Given the description of an element on the screen output the (x, y) to click on. 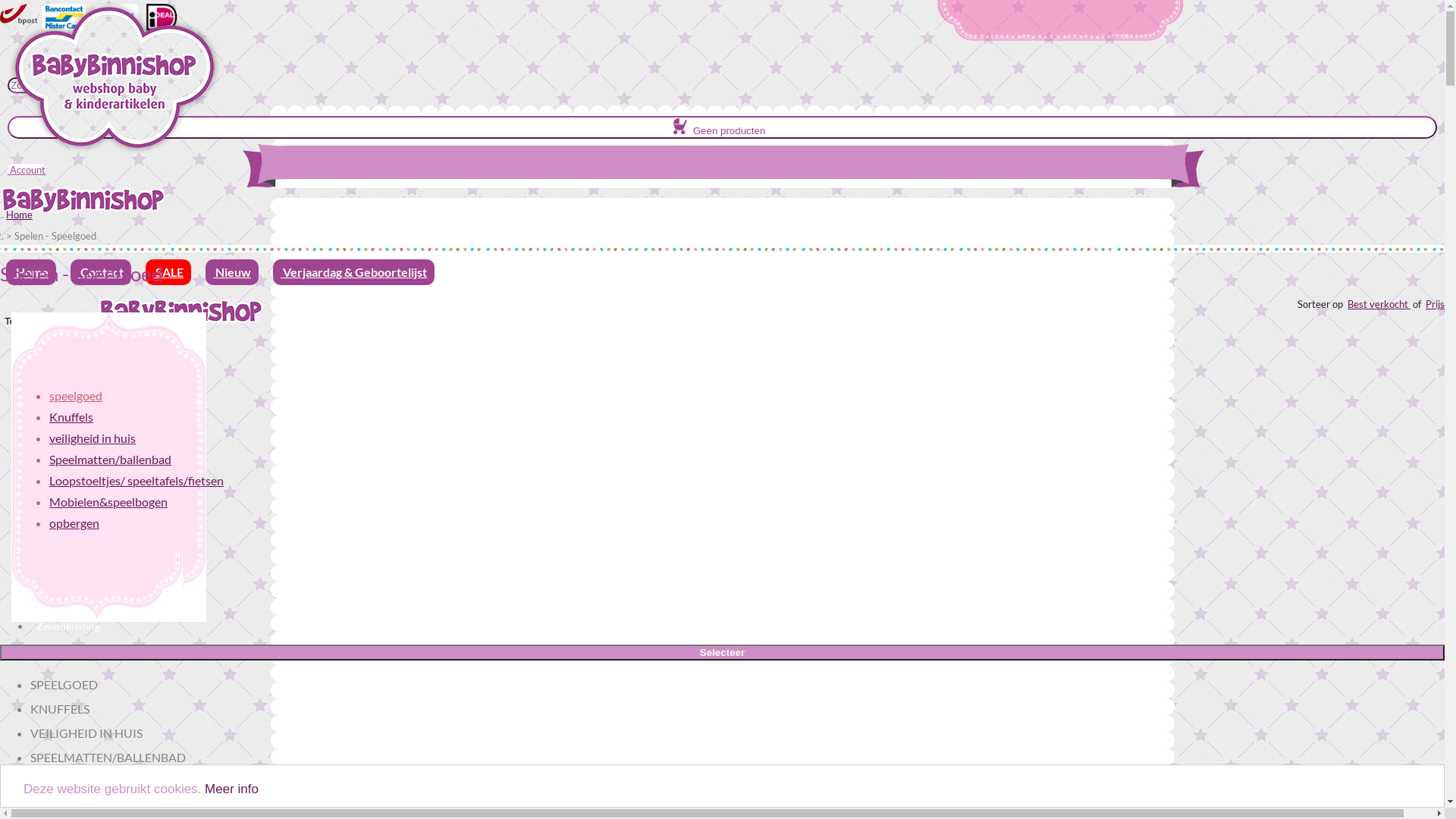
Selecteer Element type: text (722, 652)
Meer info Element type: text (231, 788)
Onderweg Element type: text (60, 541)
VEILIGHEID IN HUIS Element type: text (86, 732)
Voeding Element type: text (55, 456)
Geboortelijsten Element type: text (73, 392)
SPEELGOED Element type: text (63, 684)
 Account Element type: text (26, 169)
Zomer & water Element type: text (71, 583)
Knuffels Element type: text (71, 416)
 Verjaardag & Geboortelijst Element type: text (353, 272)
 Nieuw Element type: text (231, 272)
Verzorging Element type: text (62, 477)
LOOPSTOELTJES/ SPEELTAFELS/FIETSEN Element type: text (140, 781)
Zwemkleding Volwassenen Element type: text (99, 605)
Speelmatten/ballenbad Element type: text (110, 458)
Gepersonaliseerd Element type: text (77, 562)
SPEELMATTEN/BALLENBAD Element type: text (107, 756)
Prijs Element type: text (1434, 304)
Mobielen&speelbogen Element type: text (108, 501)
Best verkocht Element type: text (1378, 304)
  Geen producten   Element type: text (722, 127)
Kleding&schoenen Element type: text (80, 498)
opbergen Element type: text (74, 522)
Spelen Element type: text (51, 435)
Slapen Element type: text (51, 413)
 SALE Element type: text (168, 272)
veiligheid in huis Element type: text (92, 437)
Nieuw Element type: text (51, 371)
KNUFFELS Element type: text (59, 708)
 Home Element type: text (31, 272)
Home Element type: text (19, 214)
MOBIELEN&SPEELBOGEN Element type: text (102, 805)
 Contact Element type: text (100, 272)
Outlet-Kleding Element type: text (71, 520)
speelgoed Element type: text (75, 395)
Loopstoeltjes/ speeltafels/fietsen Element type: text (136, 480)
Toggle navigation Element type: text (43, 320)
Promoties Element type: text (60, 350)
Zwemkleding Element type: text (68, 626)
